Given the description of an element on the screen output the (x, y) to click on. 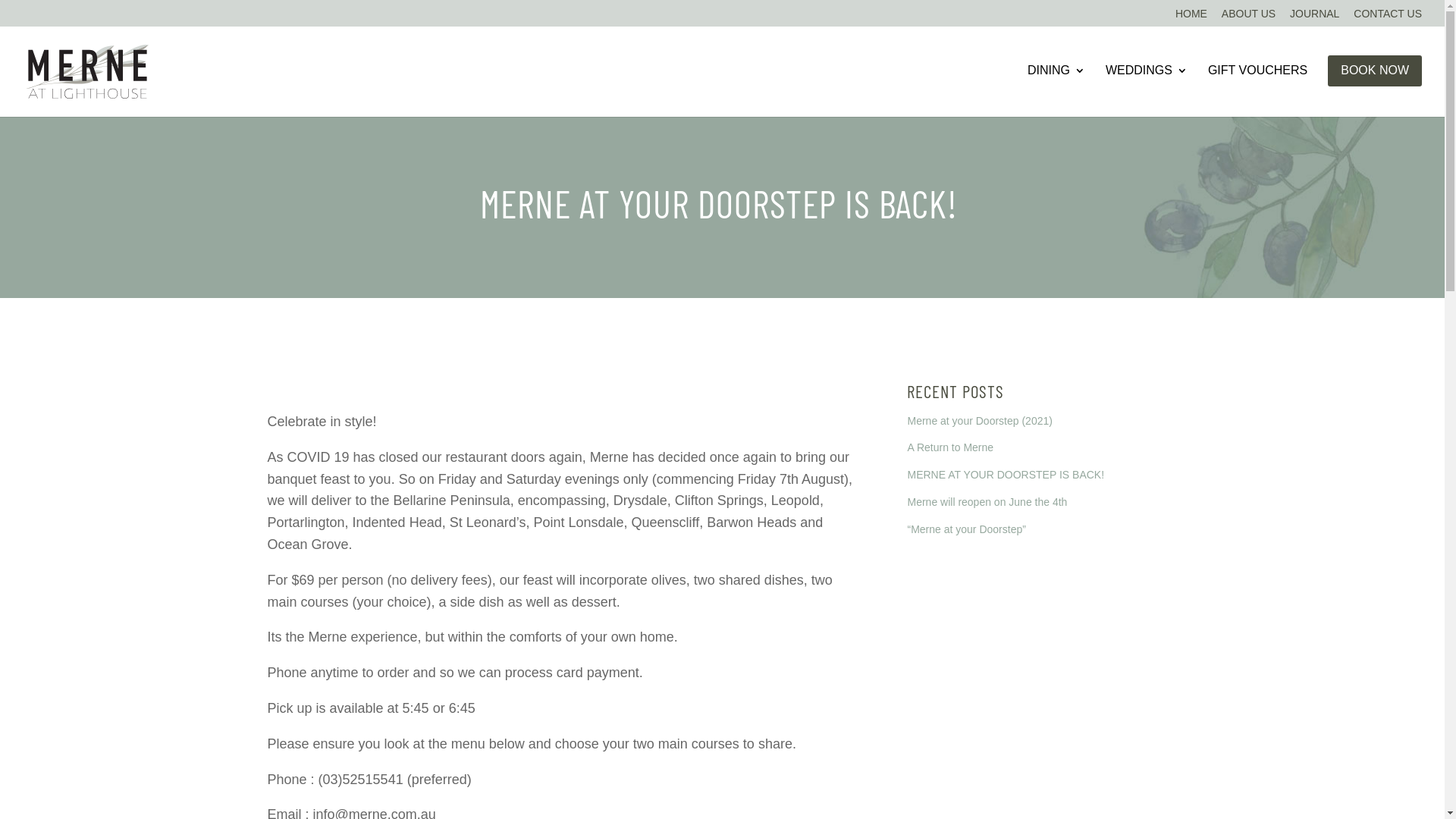
CONTACT US Element type: text (1387, 16)
BOOK NOW Element type: text (1374, 70)
ABOUT US Element type: text (1248, 16)
JOURNAL Element type: text (1314, 16)
A Return to Merne Element type: text (949, 447)
Merne at your Doorstep (2021) Element type: text (978, 420)
DINING Element type: text (1056, 89)
MERNE AT YOUR DOORSTEP IS BACK! Element type: text (1005, 474)
WEDDINGS Element type: text (1146, 89)
Merne will reopen on June the 4th Element type: text (986, 501)
GIFT VOUCHERS Element type: text (1257, 89)
HOME Element type: text (1191, 16)
